Given the description of an element on the screen output the (x, y) to click on. 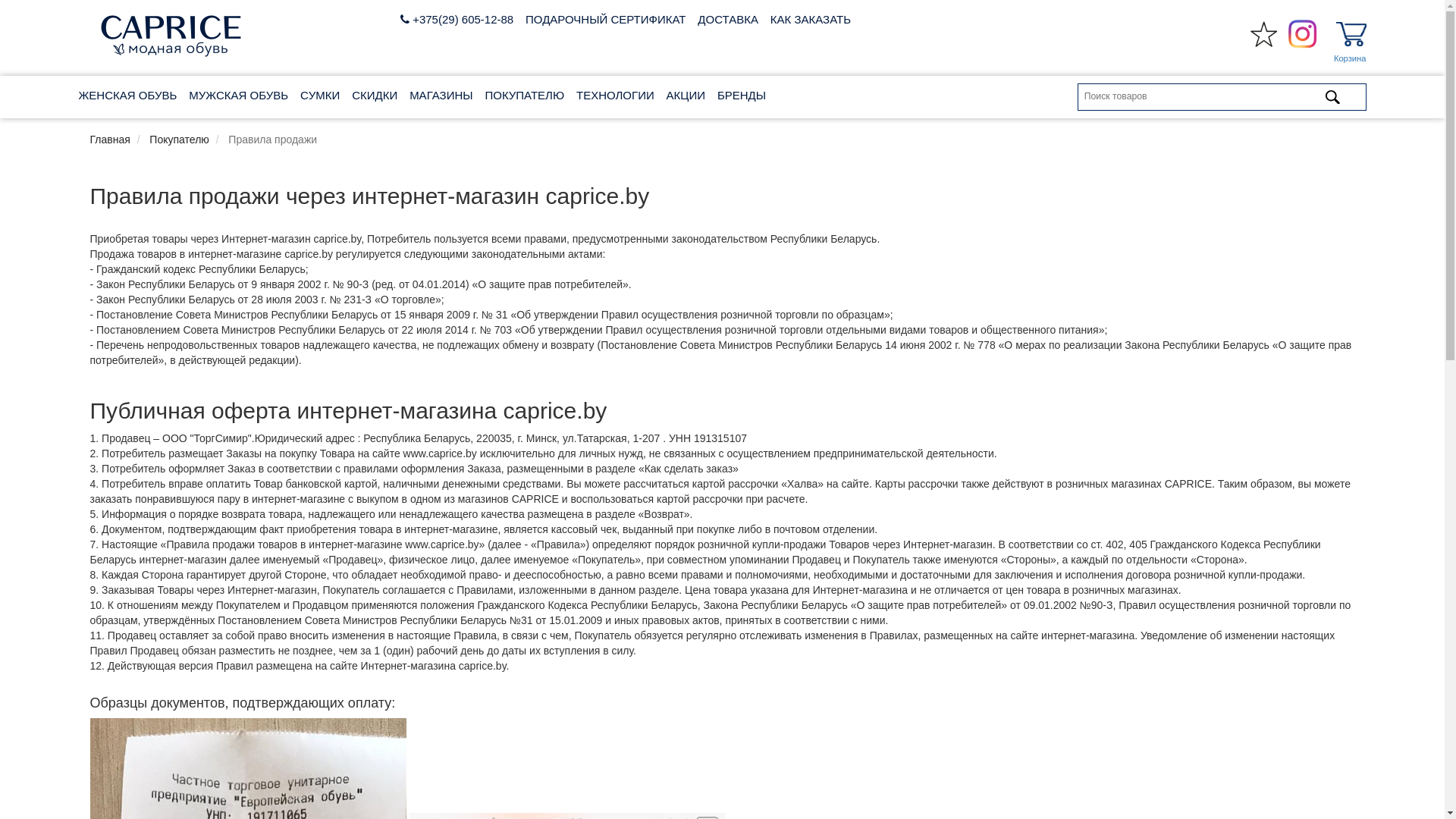
+375(29) 605-12-88 Element type: text (461, 19)
